Given the description of an element on the screen output the (x, y) to click on. 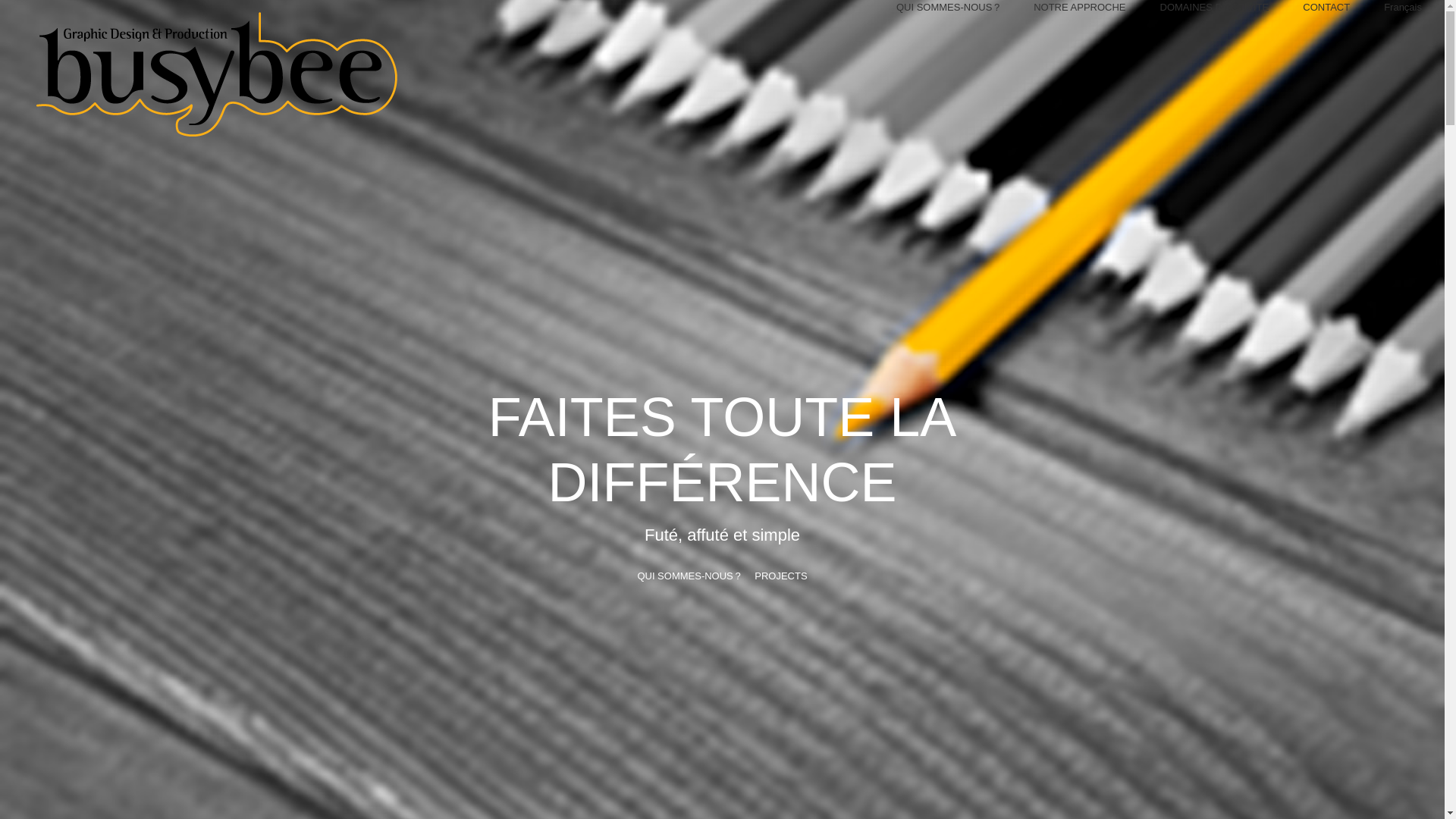
PROJECTS Element type: text (780, 575)
NOTRE APPROCHE Element type: text (1079, 7)
CONTACT Element type: text (1325, 7)
